Given the description of an element on the screen output the (x, y) to click on. 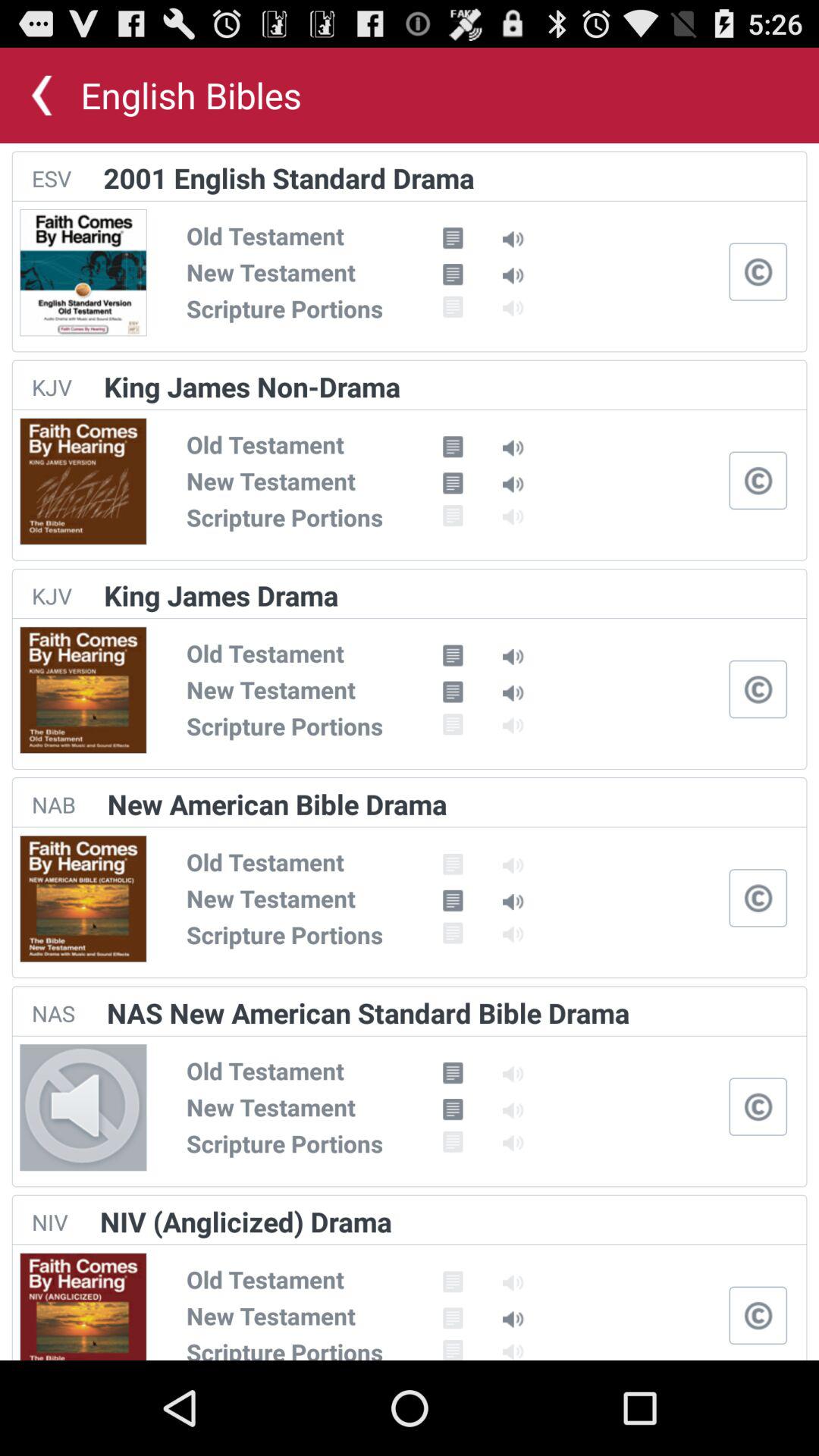
jump until the 2001 english standard item (288, 177)
